Given the description of an element on the screen output the (x, y) to click on. 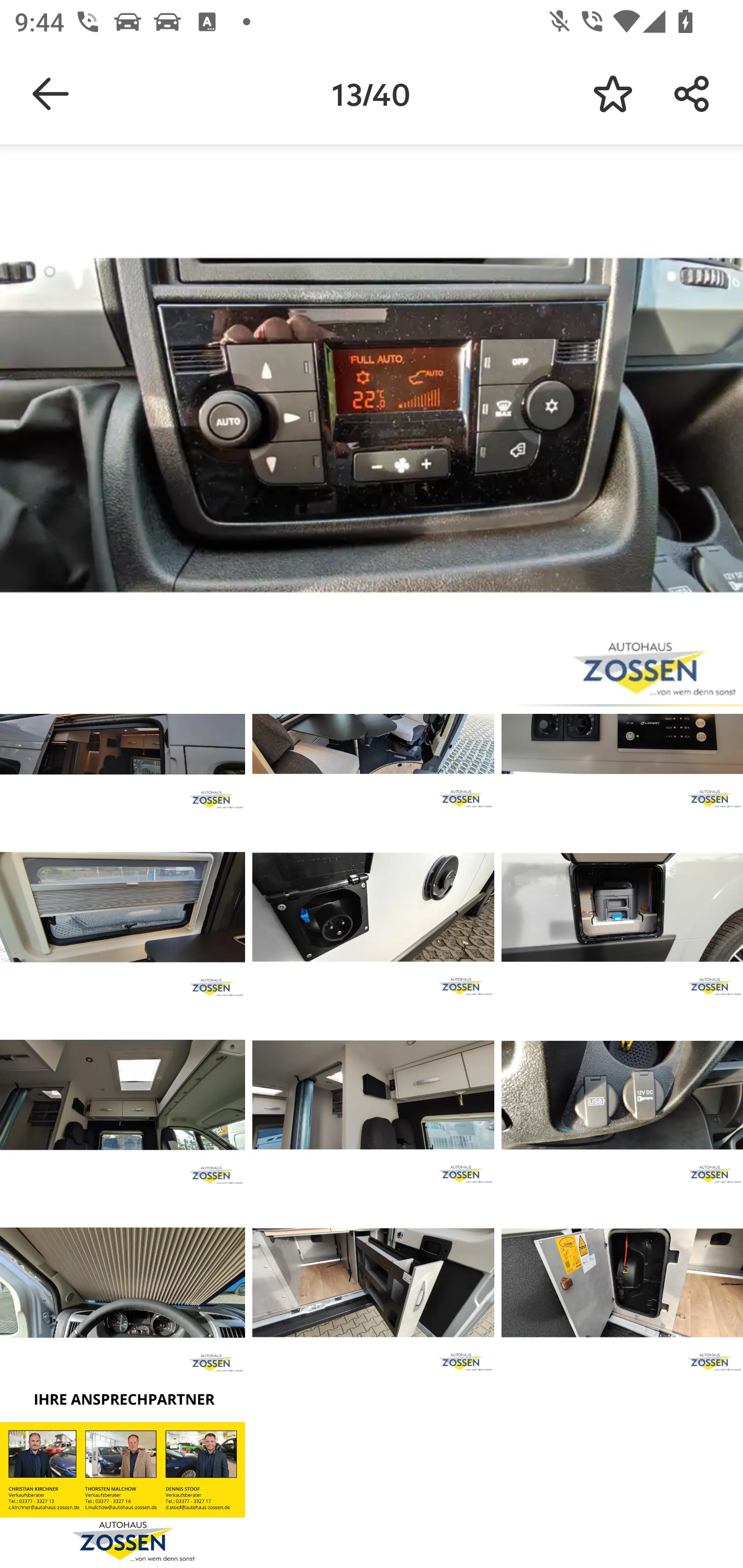
back button (50, 93)
share button (692, 93)
main image view (371, 428)
image (122, 906)
image (373, 906)
image (622, 906)
image (122, 1095)
image (373, 1095)
image (622, 1095)
image (122, 1283)
image (373, 1283)
image (622, 1283)
image (122, 1469)
